Given the description of an element on the screen output the (x, y) to click on. 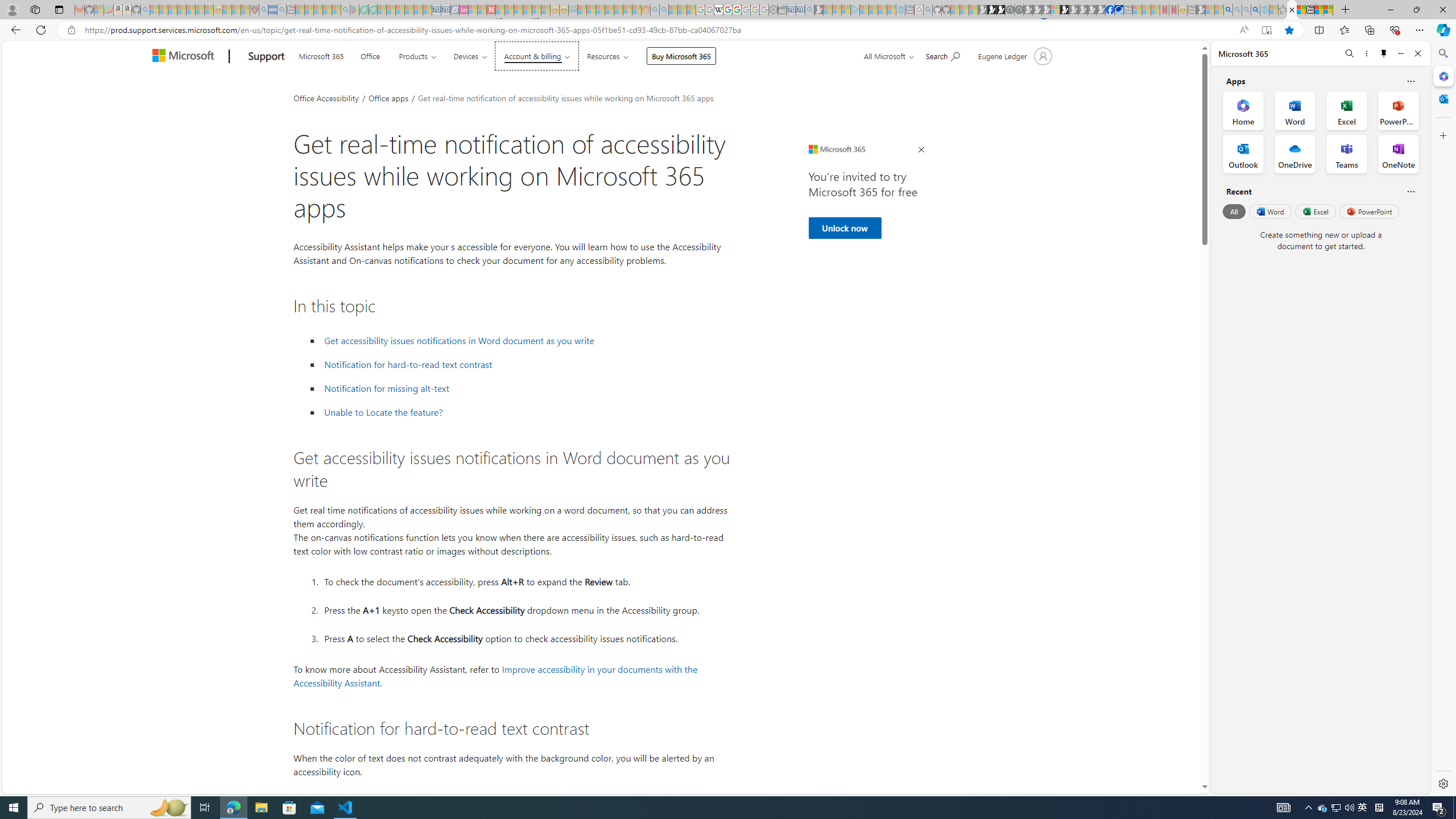
PowerPoint (1369, 210)
Excel (1315, 210)
Cheap Hotels - Save70.com - Sleeping (445, 9)
Bluey: Let's Play! - Apps on Google Play - Sleeping (354, 9)
Sign in to your account - Sleeping (1054, 9)
Trusted Community Engagement and Contributions | Guidelines (499, 9)
Bing AI - Search (1227, 9)
